Given the description of an element on the screen output the (x, y) to click on. 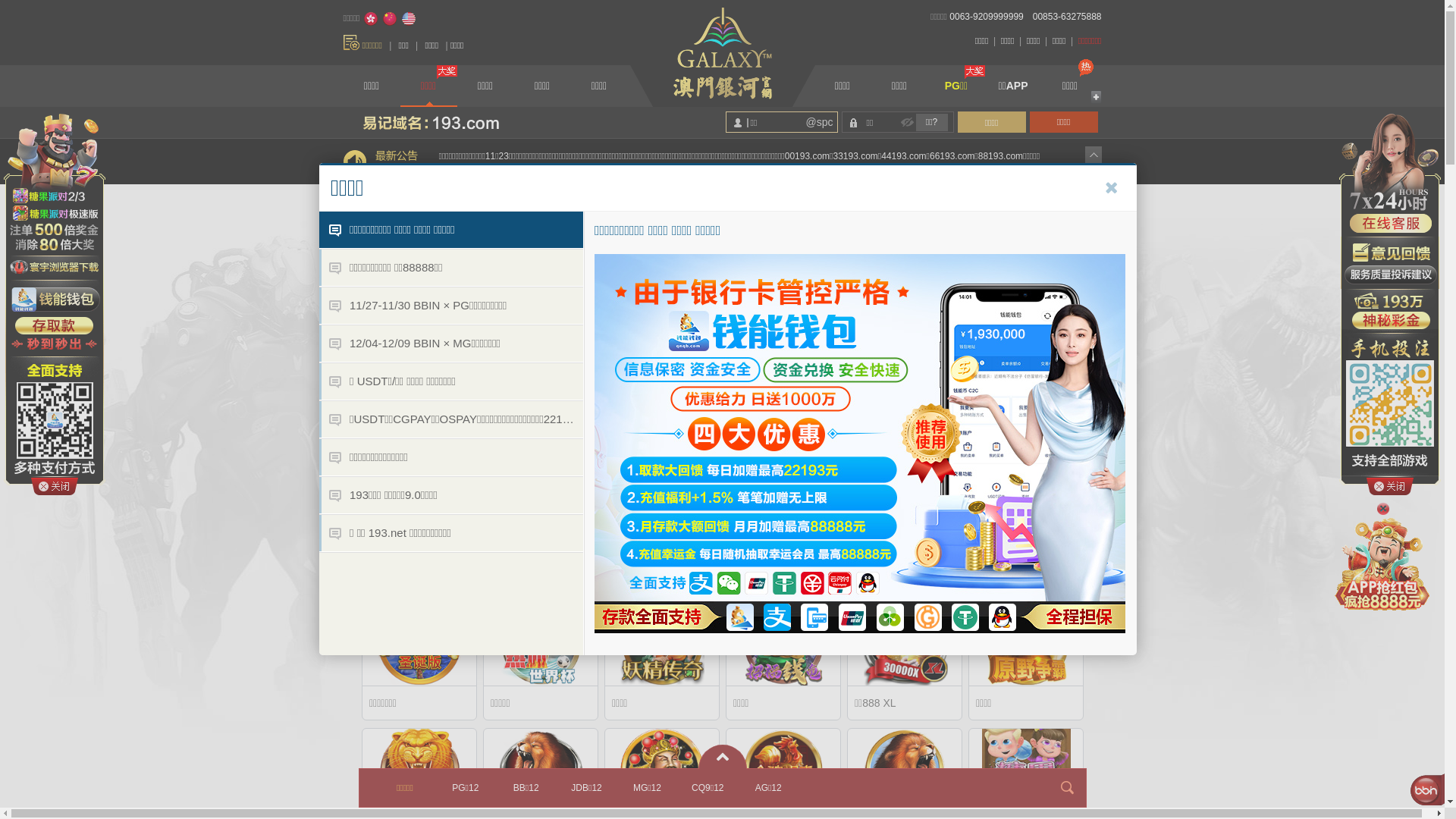
English Element type: hover (408, 18)
